Given the description of an element on the screen output the (x, y) to click on. 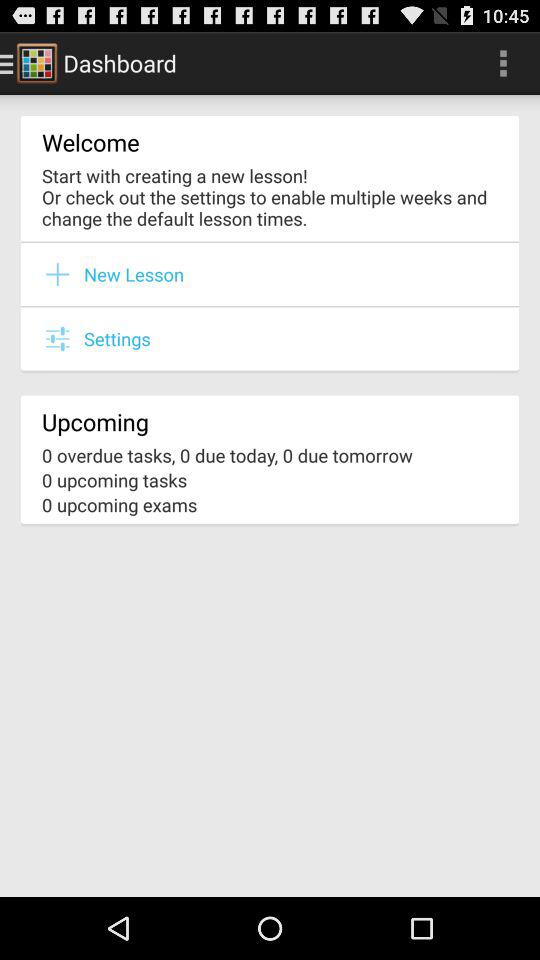
swipe until the start with creating (269, 196)
